Given the description of an element on the screen output the (x, y) to click on. 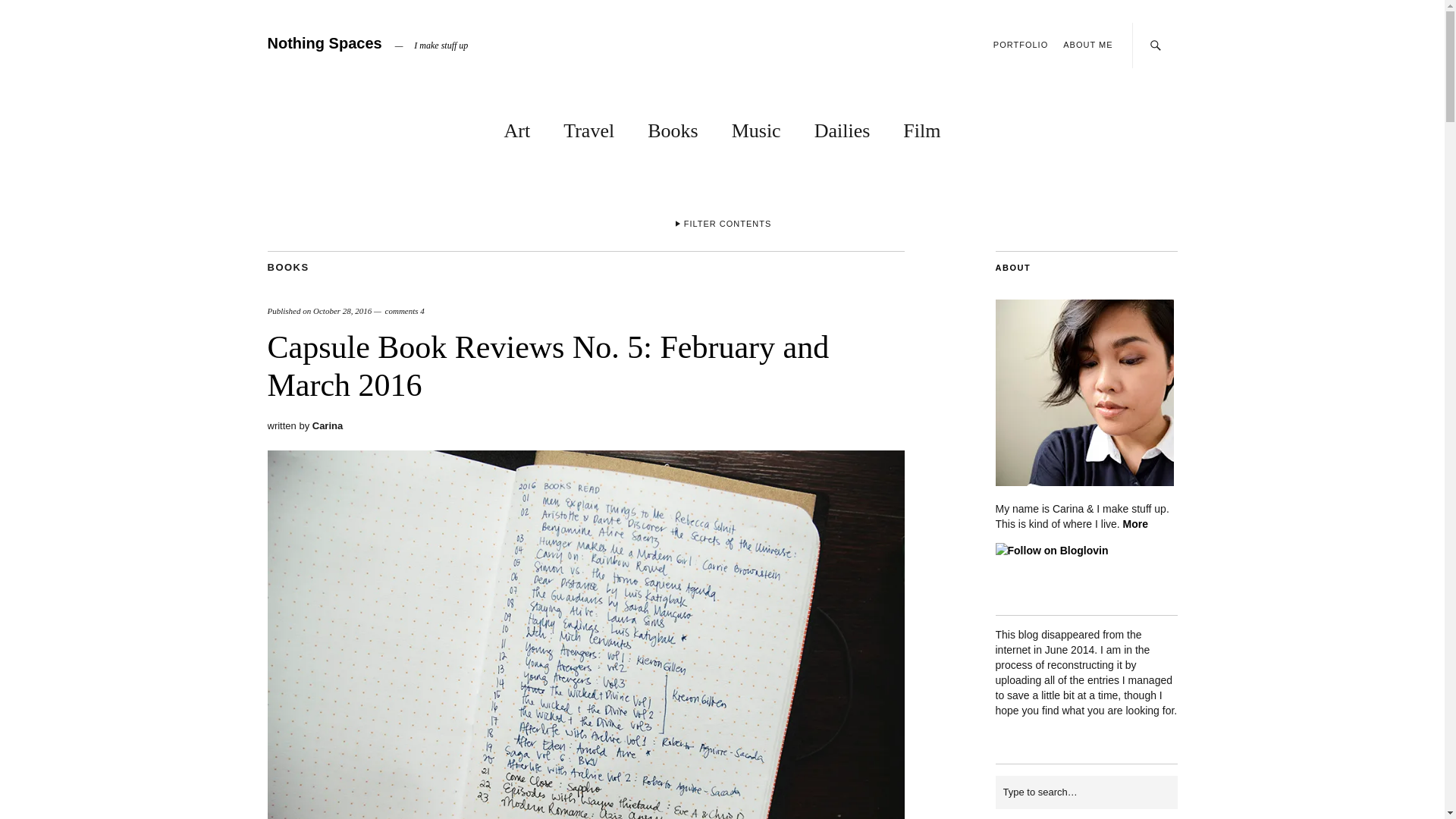
ABOUT ME (1087, 44)
Film (921, 127)
All posts by Carina (327, 425)
Dailies (841, 127)
Follow Nothing Spaces on Bloglovin (1051, 550)
PORTFOLIO (1020, 44)
Nothing Spaces (323, 43)
FILTER CONTENTS (721, 226)
Music (756, 127)
Nothing Spaces (323, 43)
